Given the description of an element on the screen output the (x, y) to click on. 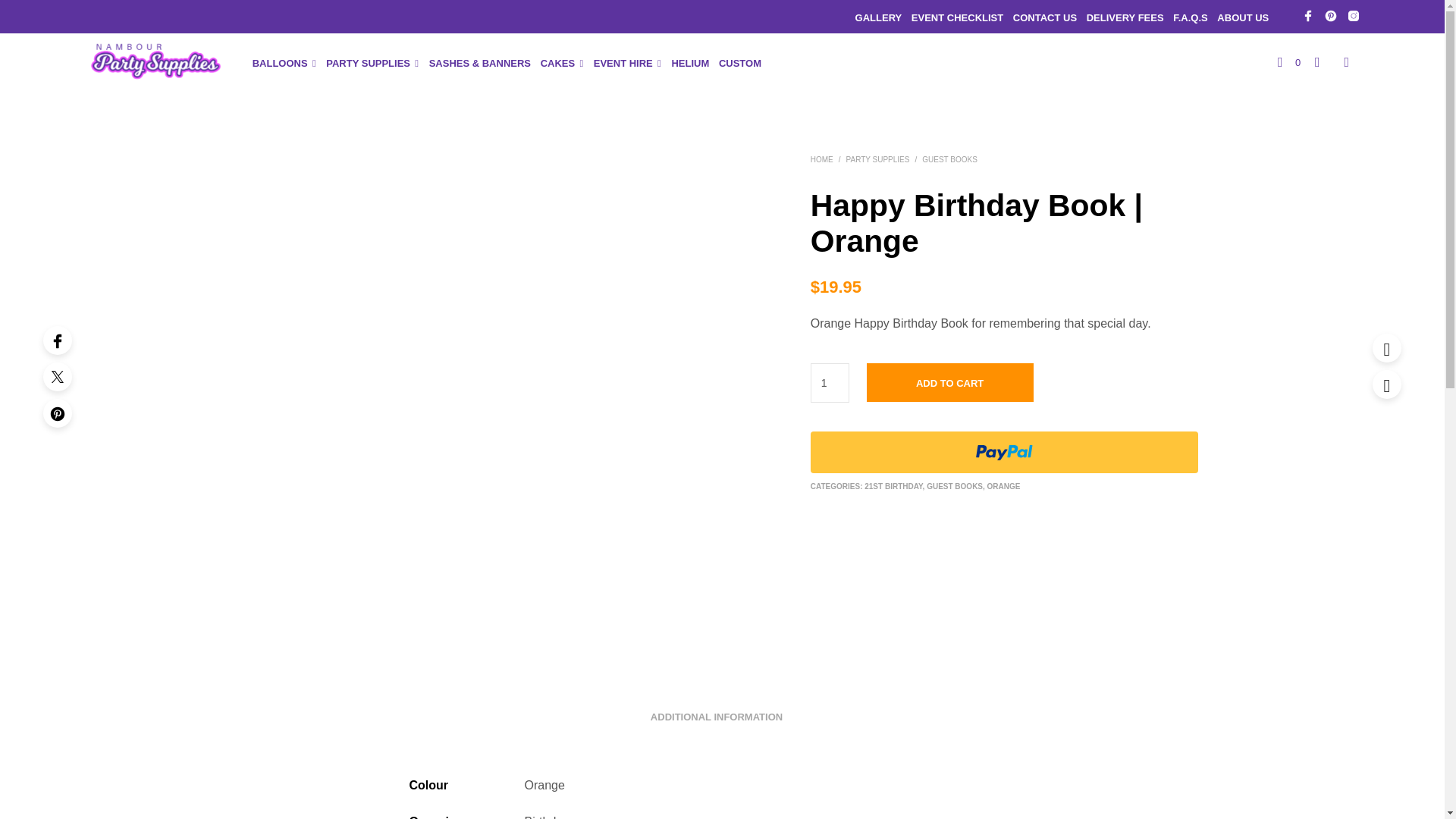
0 Element type: text (1288, 62)
HELIUM Element type: text (693, 63)
21ST BIRTHDAY Element type: text (893, 486)
GUEST BOOKS Element type: text (954, 486)
Twitter Element type: hover (57, 376)
Pinterest Element type: hover (57, 412)
ADDITIONAL INFORMATION Element type: text (716, 712)
CONTACT US Element type: text (1048, 17)
PARTY SUPPLIES Element type: text (371, 63)
CAKES Element type: text (561, 63)
DELIVERY FEES Element type: text (1128, 17)
GALLERY Element type: text (882, 17)
HOME Element type: text (821, 159)
F.A.Q.S Element type: text (1193, 17)
CUSTOM Element type: text (743, 63)
PayPal Element type: hover (1004, 452)
SASHES & BANNERS Element type: text (483, 63)
ADD TO CART Element type: text (949, 382)
GUEST BOOKS Element type: text (949, 159)
BALLOONS Element type: text (283, 63)
ORANGE Element type: text (1003, 486)
ABOUT US Element type: text (1246, 17)
PARTY SUPPLIES Element type: text (878, 159)
Facebook Element type: hover (57, 340)
EVENT HIRE Element type: text (626, 63)
EVENT CHECKLIST Element type: text (960, 17)
